Given the description of an element on the screen output the (x, y) to click on. 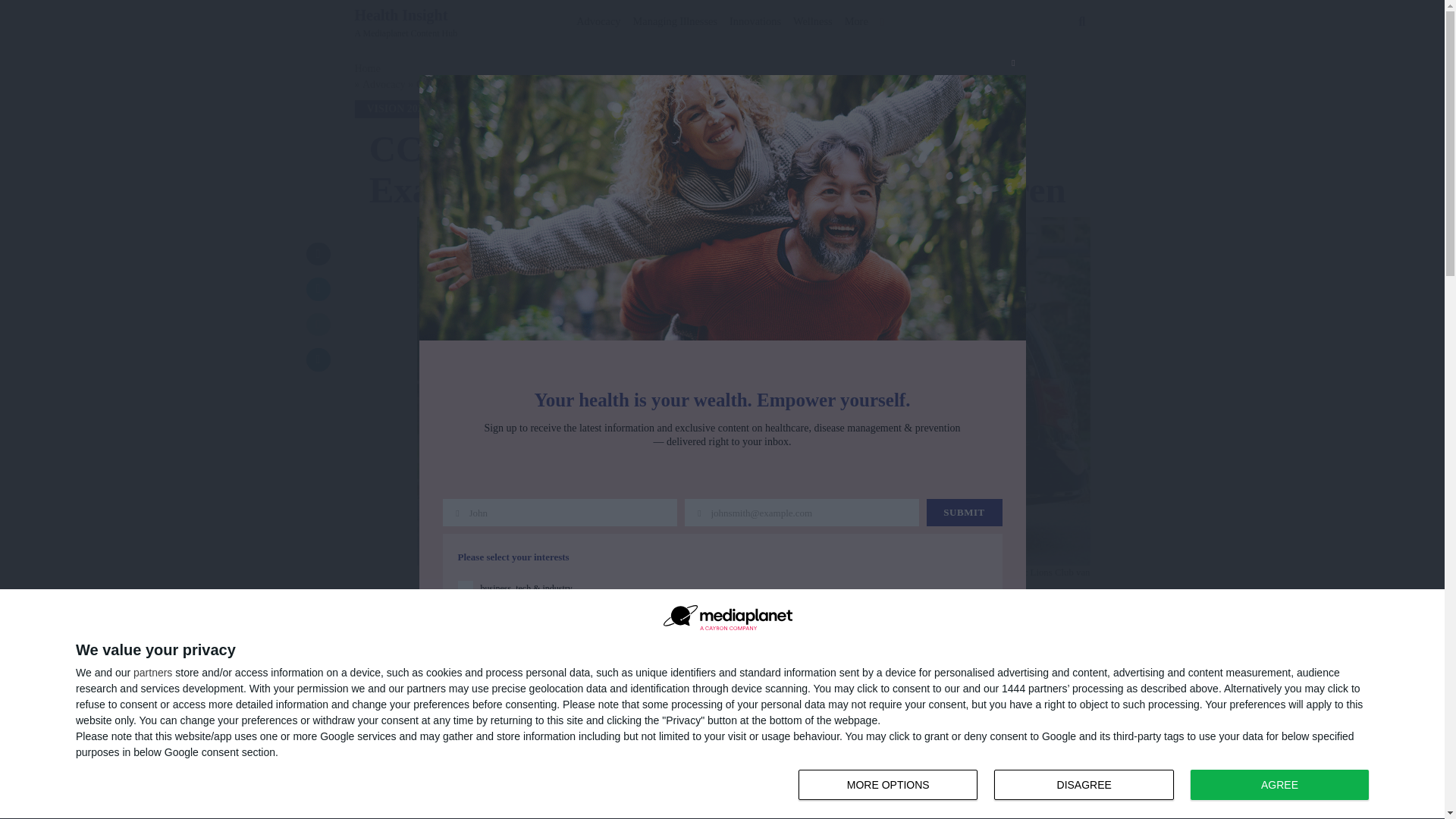
Wellness (812, 18)
partners (152, 672)
MORE OPTIONS (886, 784)
DISAGREE (1083, 784)
Advocacy (1086, 785)
3109e9c574 (598, 18)
AGREE (675, 18)
Innovations (1279, 784)
